Given the description of an element on the screen output the (x, y) to click on. 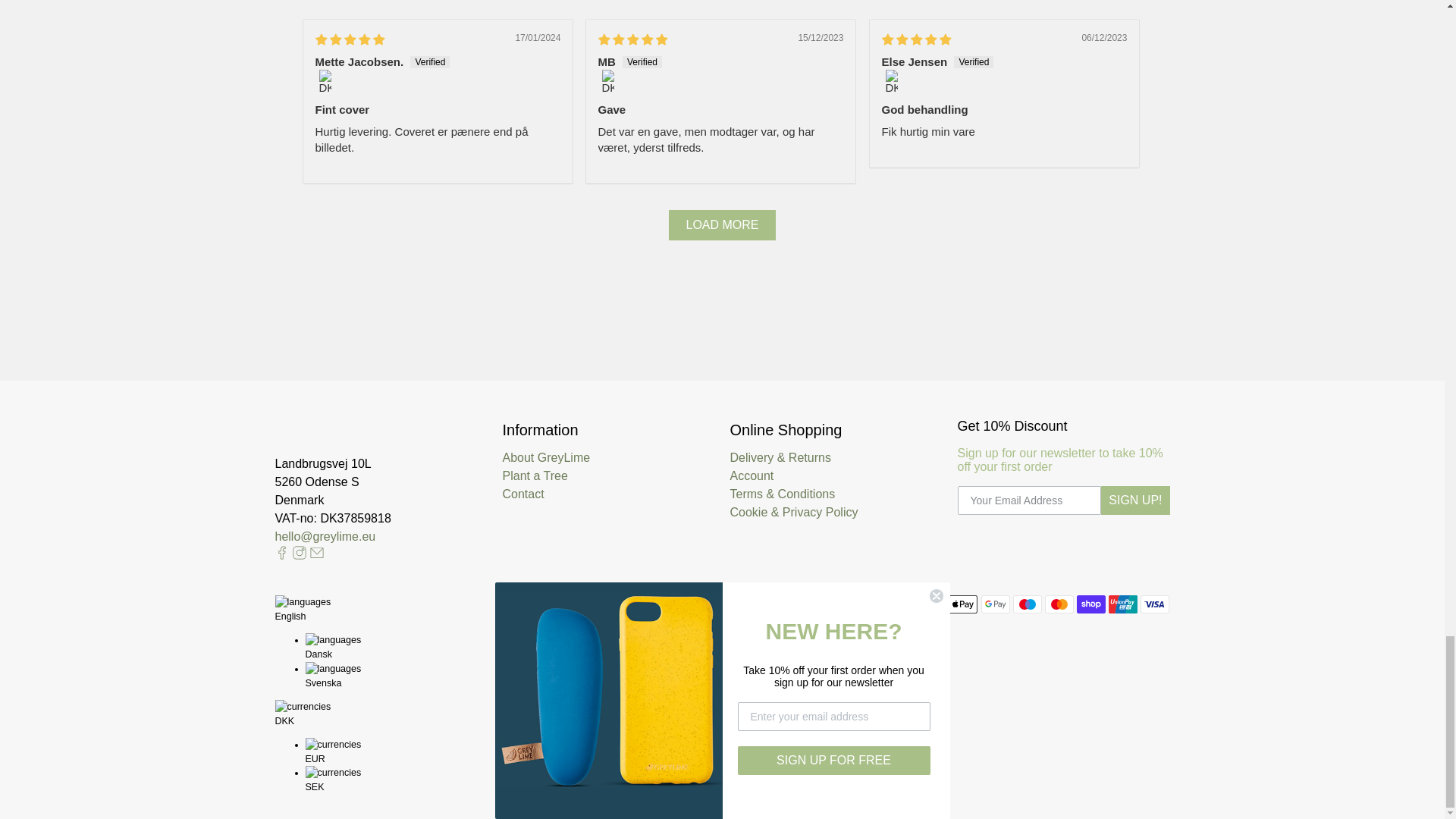
Mastercard (1059, 604)
GreyLime on Facebook (281, 554)
Email GreyLime (315, 554)
American Express (930, 604)
Maestro (1027, 604)
Shop Pay (1091, 604)
Google Pay (995, 604)
Visa (1154, 604)
Apple Pay (962, 604)
GreyLime (338, 436)
Union Pay (1122, 604)
GreyLime on Instagram (298, 554)
